Given the description of an element on the screen output the (x, y) to click on. 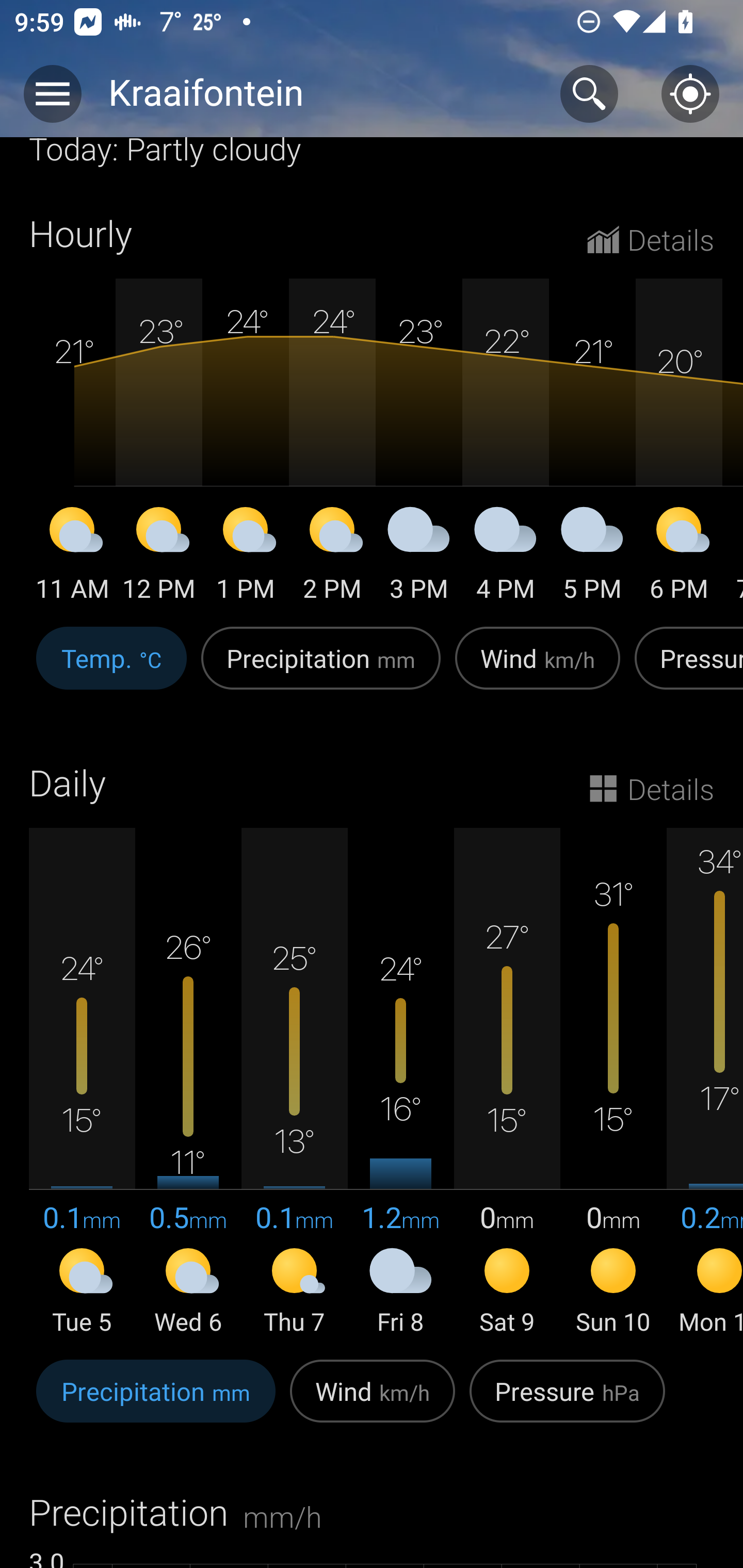
11 AM (71, 557)
12 PM (158, 557)
1 PM (245, 557)
2 PM (332, 557)
3 PM (418, 557)
4 PM (505, 557)
5 PM (592, 557)
6 PM (679, 557)
Temp. °C (110, 668)
Precipitation mm (320, 668)
Wind km/h (537, 668)
Pressure (685, 668)
24° 15° 0.1 mm Tue 5 (81, 1082)
26° 11° 0.5 mm Wed 6 (188, 1082)
25° 13° 0.1 mm Thu 7 (294, 1082)
24° 16° 1.2 mm Fri 8 (400, 1082)
27° 15° 0 mm Sat 9 (506, 1082)
31° 15° 0 mm Sun 10 (613, 1082)
34° 17° 0.2 mm Mon 11 (704, 1082)
Precipitation mm (155, 1401)
Wind km/h (372, 1401)
Pressure hPa (567, 1401)
